Given the description of an element on the screen output the (x, y) to click on. 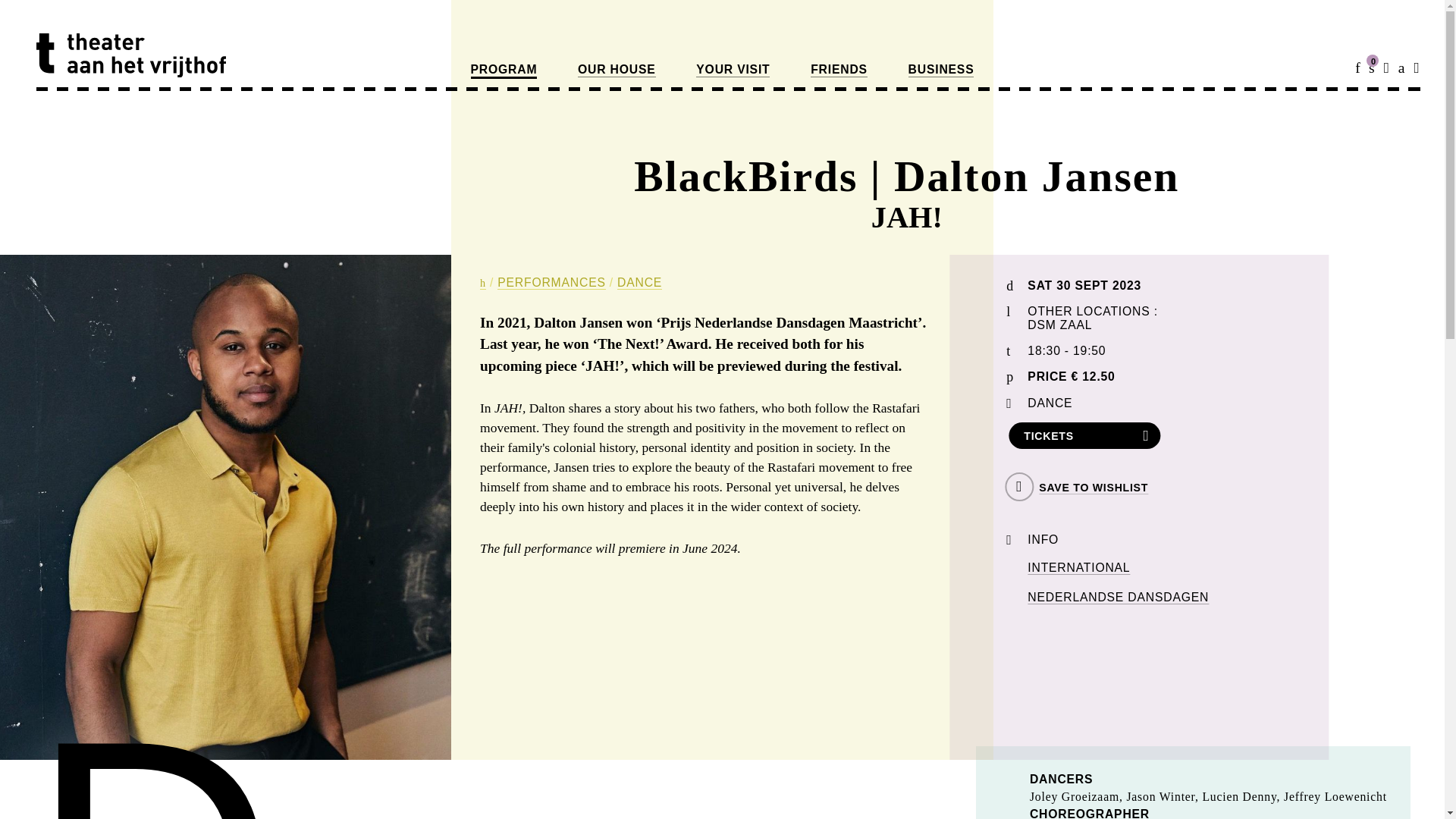
FRIENDS (838, 69)
PROGRAM (503, 70)
YOUR VISIT (732, 69)
logo (130, 55)
OUR HOUSE (616, 69)
BUSINESS (941, 69)
